Given the description of an element on the screen output the (x, y) to click on. 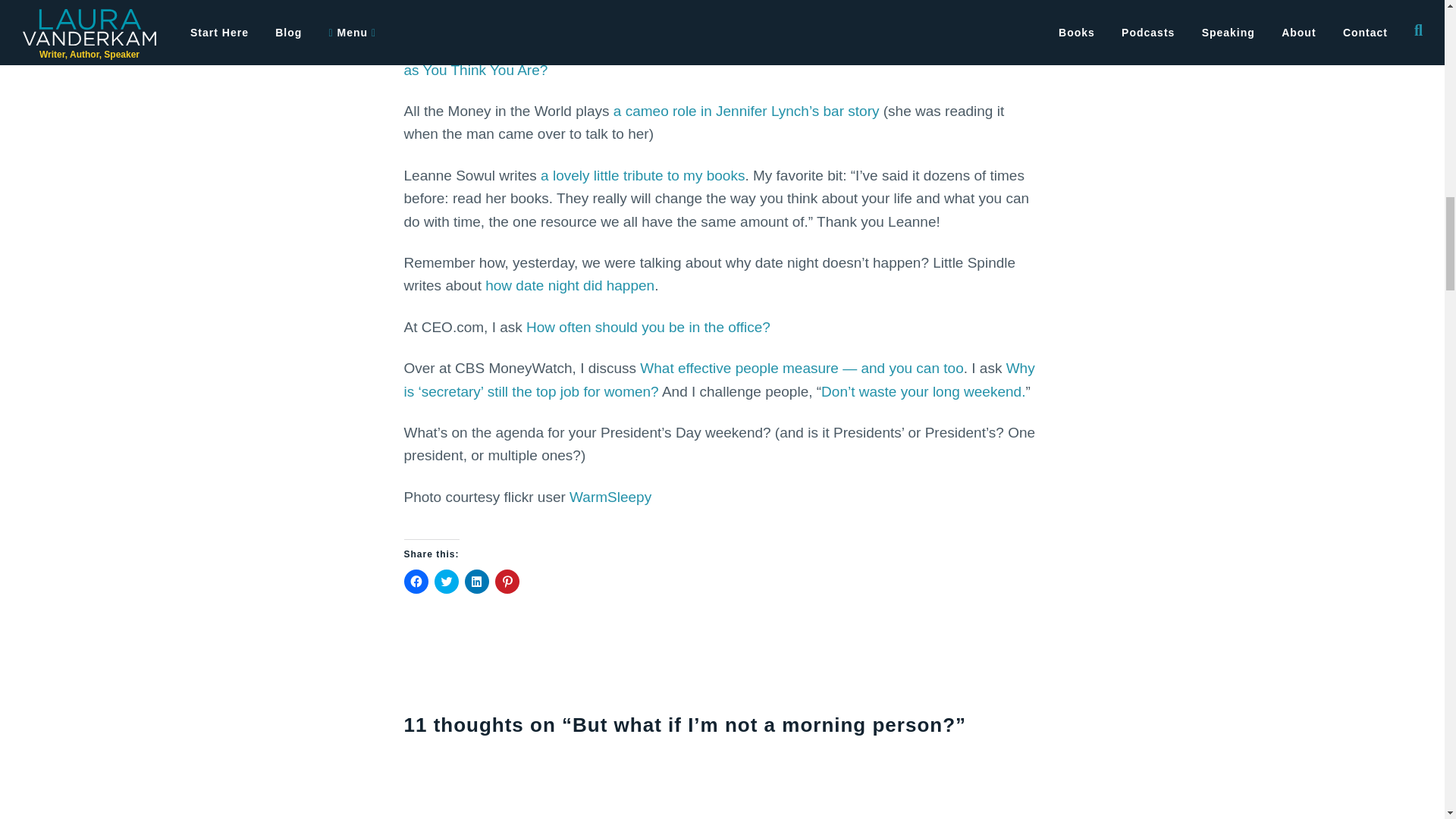
Click to share on Facebook (415, 581)
a lovely little tribute to my books (642, 175)
Click to share on Pinterest (506, 581)
Click to share on LinkedIn (475, 581)
WarmSleepy (609, 496)
Are You Really as Busy as You Think You Are? (712, 57)
Click to share on Twitter (445, 581)
how date night did happen (568, 285)
How often should you be in the office? (647, 326)
